Given the description of an element on the screen output the (x, y) to click on. 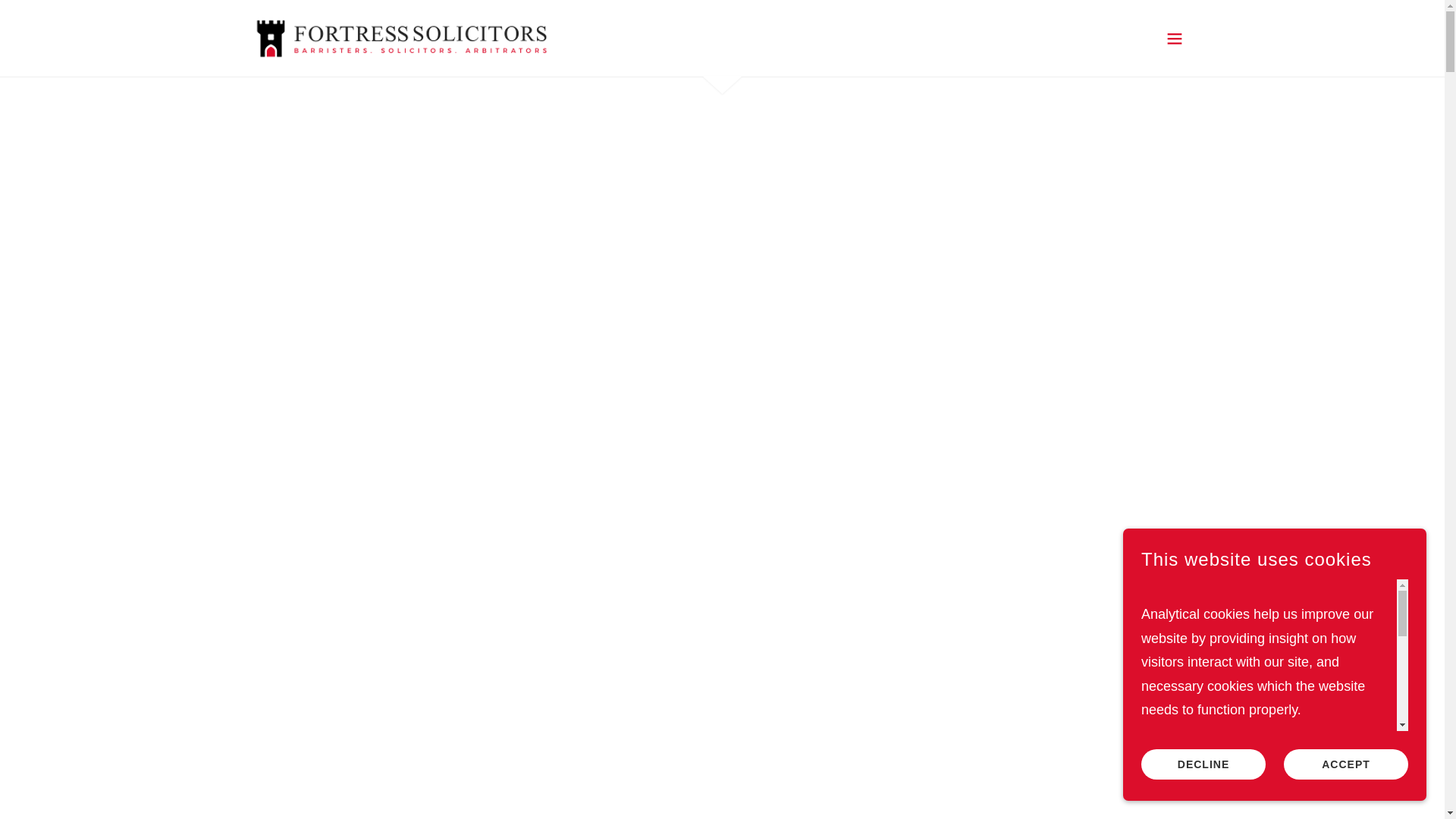
DECLINE (1203, 764)
Fortress Solicitors (400, 37)
ACCEPT (1345, 764)
